Given the description of an element on the screen output the (x, y) to click on. 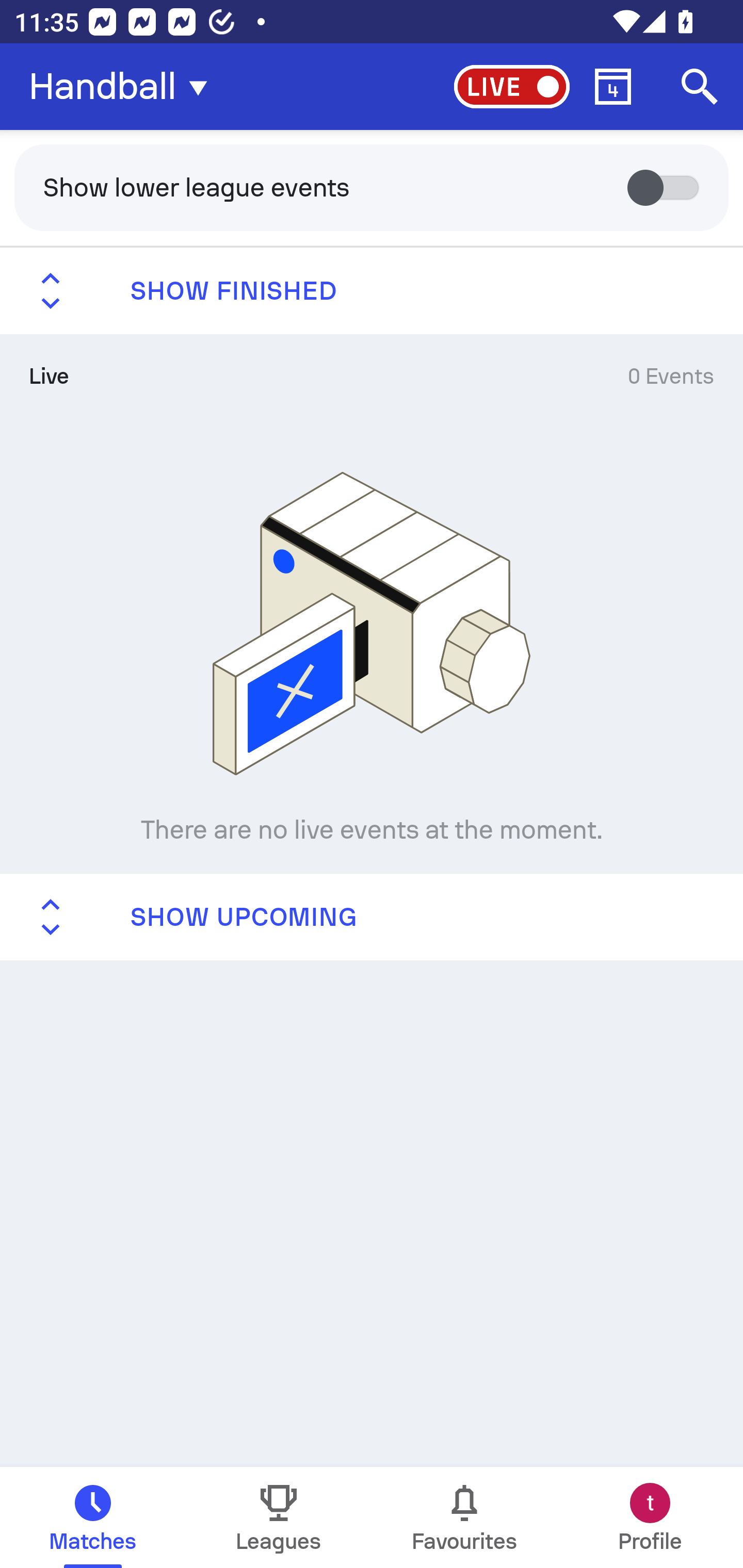
Handball (124, 86)
Calendar (612, 86)
Search (699, 86)
Show lower league events (371, 187)
SHOW FINISHED (371, 290)
SHOW UPCOMING (371, 916)
Leagues (278, 1517)
Favourites (464, 1517)
Profile (650, 1517)
